Given the description of an element on the screen output the (x, y) to click on. 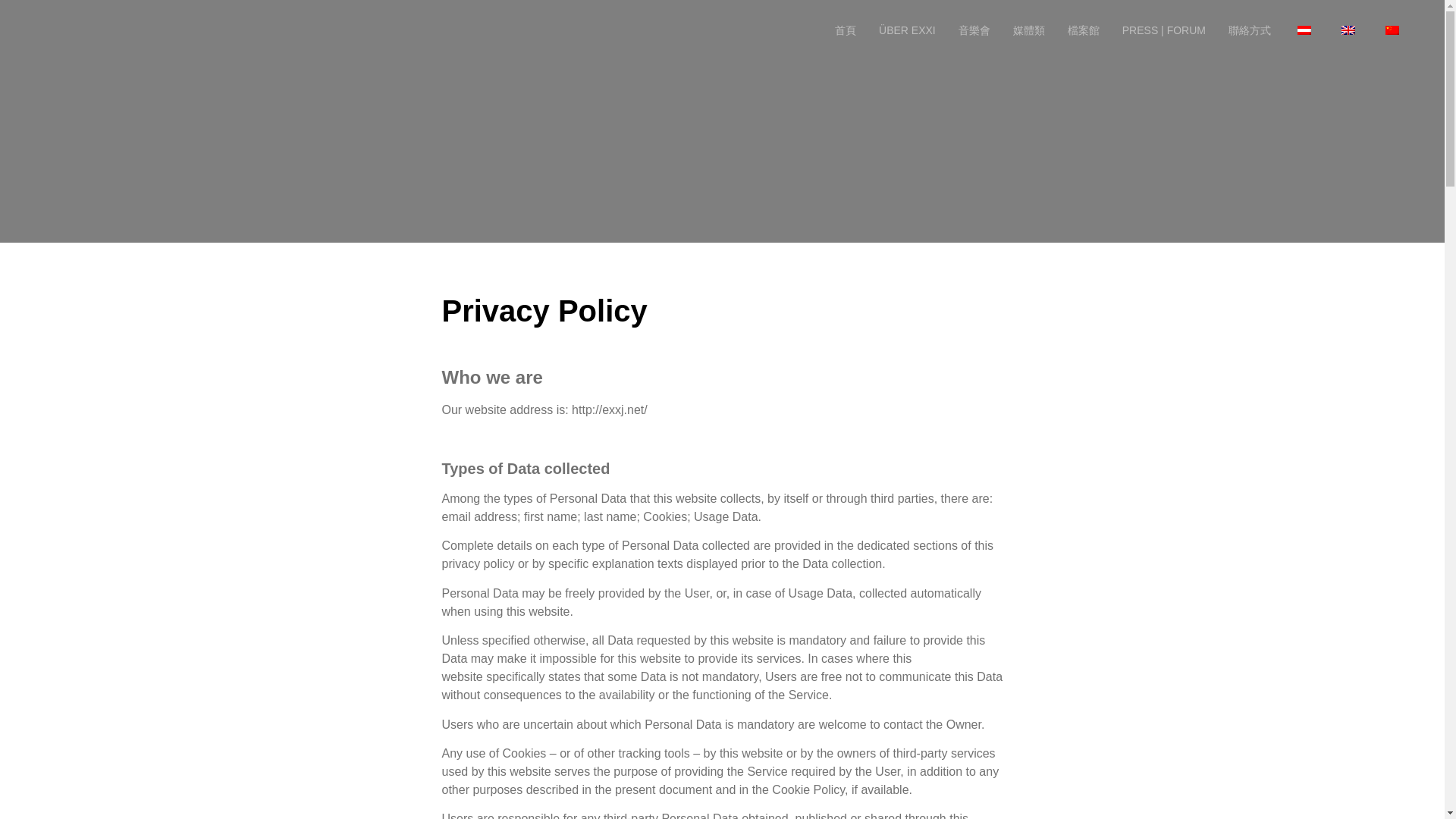
English (1347, 30)
German (1304, 30)
Chinese (1392, 30)
